Given the description of an element on the screen output the (x, y) to click on. 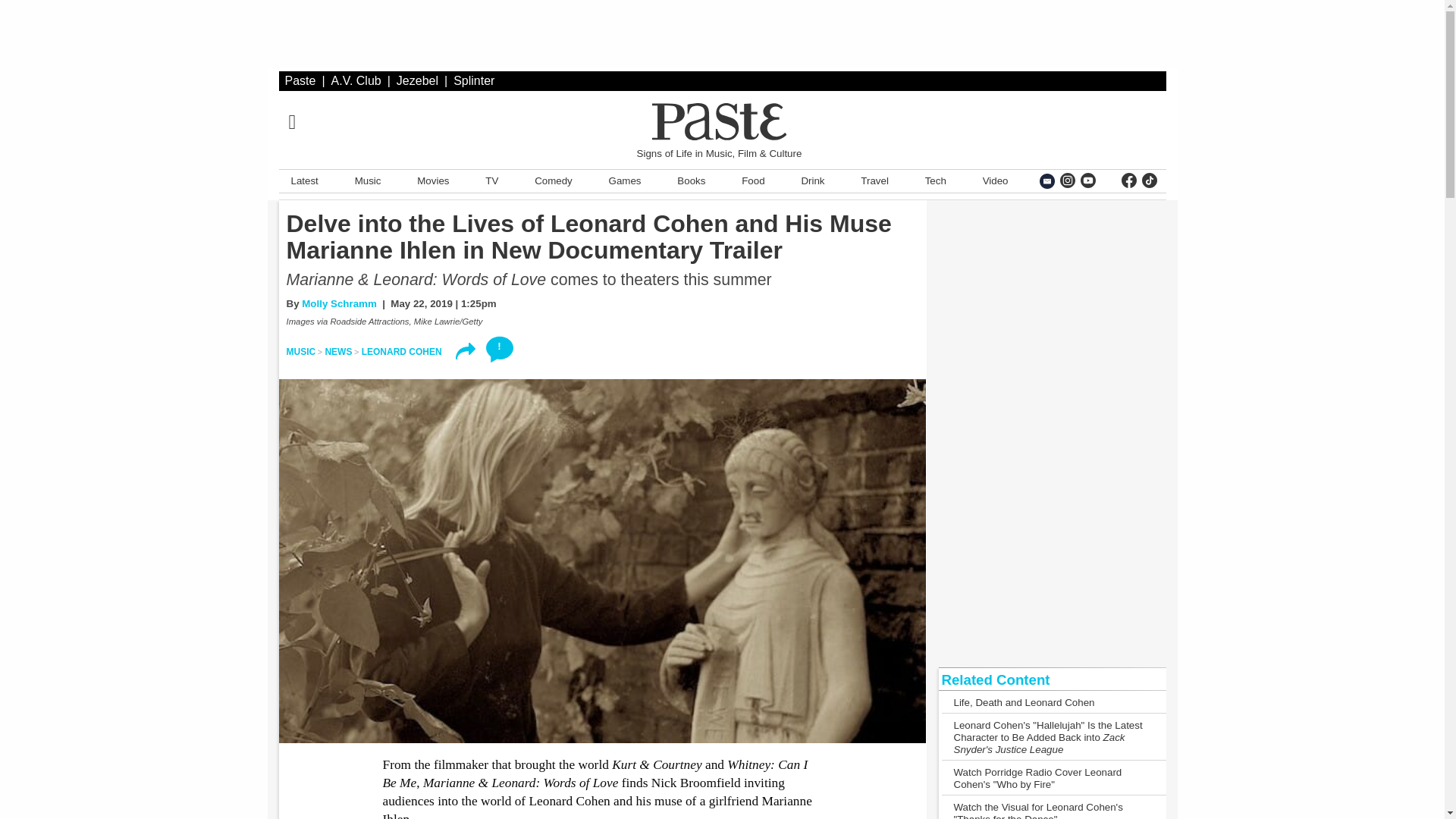
Jezebel (417, 80)
Music (368, 180)
Latest (304, 180)
Paste (300, 80)
Food (752, 180)
Comedy (553, 180)
Books (691, 180)
Splinter (473, 80)
Drink (811, 180)
Movies (432, 180)
